Given the description of an element on the screen output the (x, y) to click on. 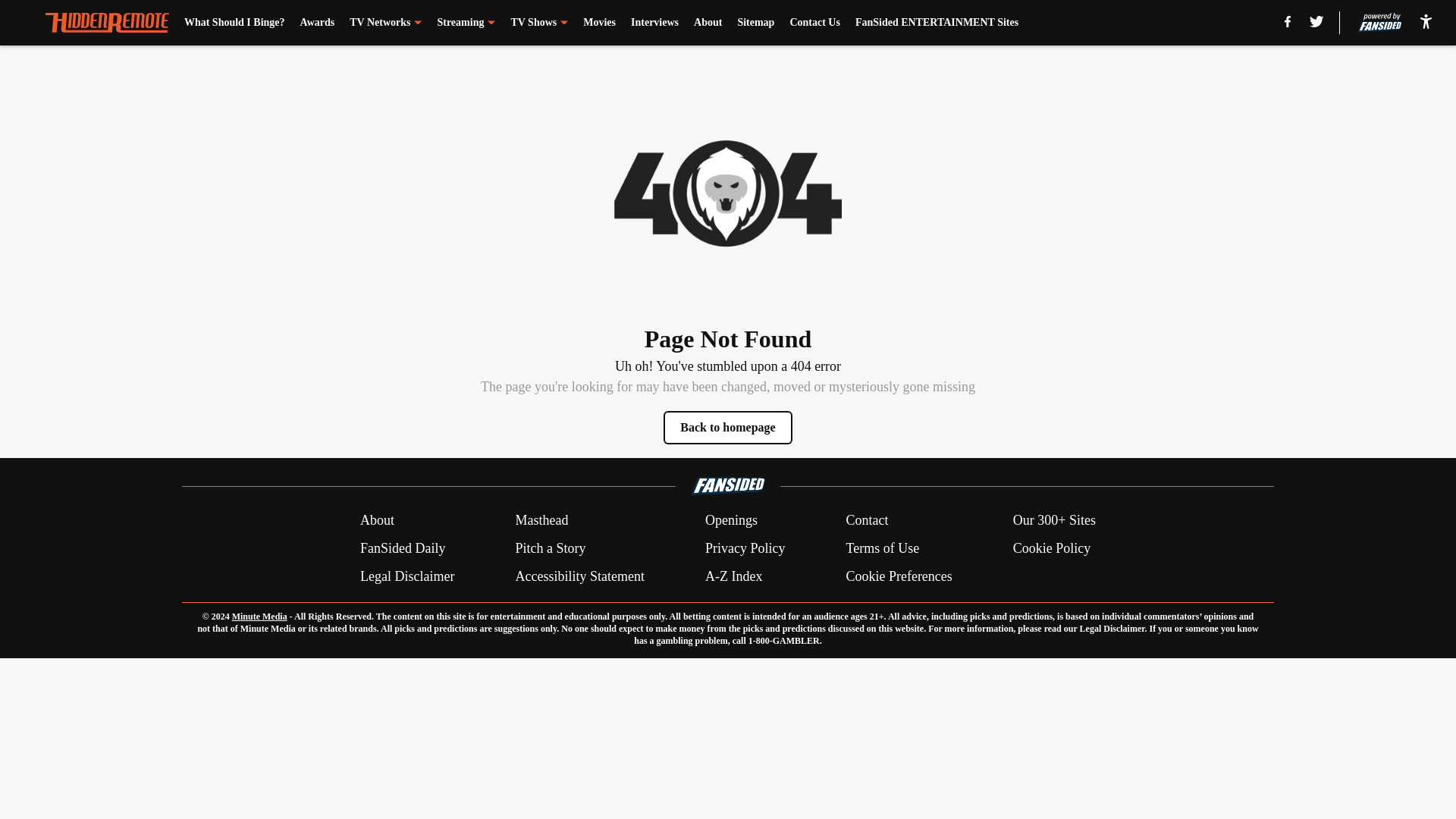
Contact Us (814, 22)
Interviews (654, 22)
Sitemap (755, 22)
FanSided ENTERTAINMENT Sites (936, 22)
About (708, 22)
About (376, 520)
Movies (599, 22)
Masthead (541, 520)
Error image (727, 193)
What Should I Binge? (234, 22)
Awards (316, 22)
Back to homepage (727, 427)
